Given the description of an element on the screen output the (x, y) to click on. 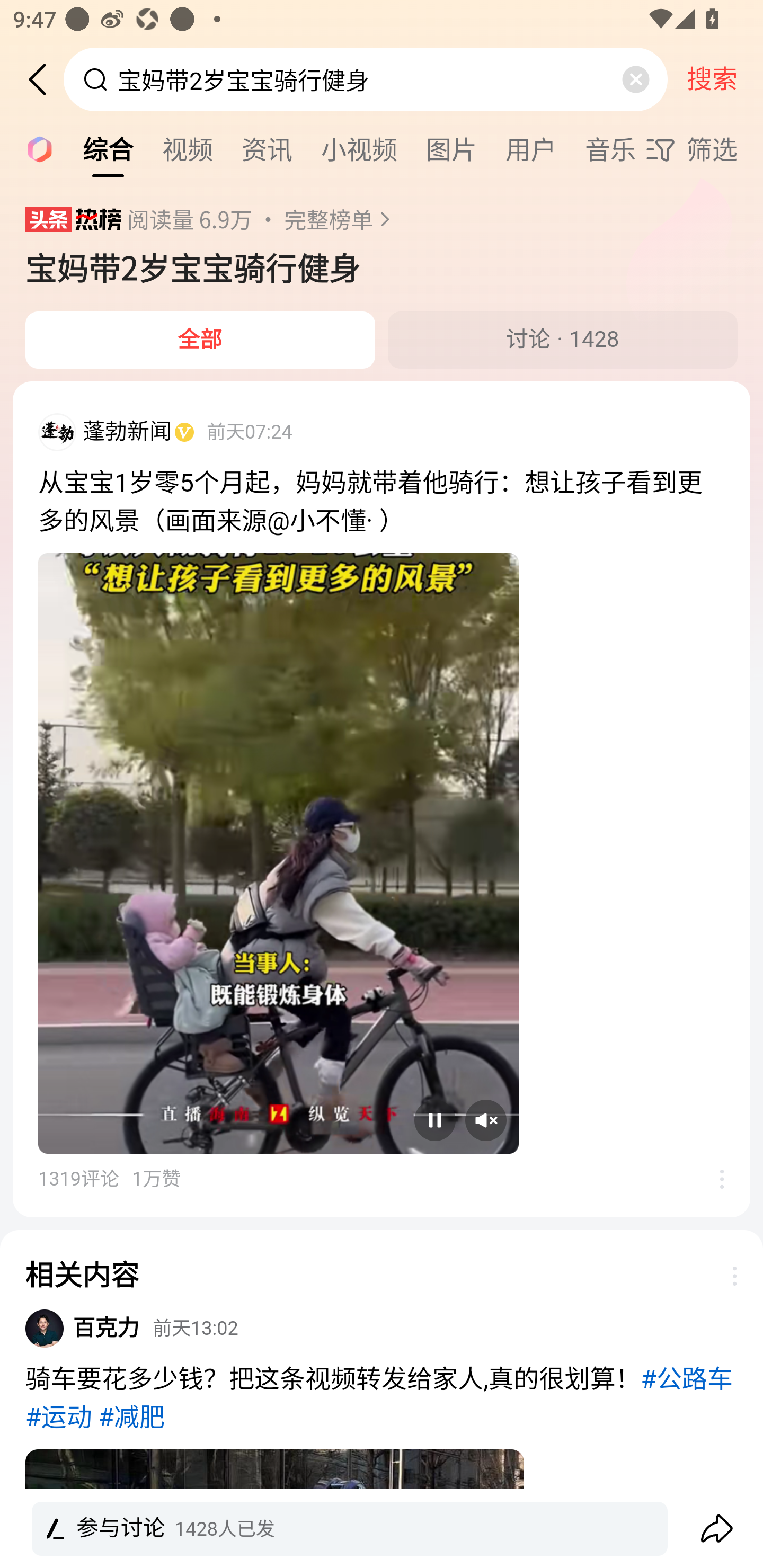
搜索框，宝妈带2岁宝宝骑行健身 (366, 79)
搜索 (711, 79)
返回 (44, 79)
清除 (635, 79)
视频 (187, 148)
资讯 (266, 148)
小视频 (359, 148)
图片 (451, 148)
用户 (530, 148)
音乐 (610, 148)
筛选 (703, 149)
AI问答 (34, 148)
阅读量 6.9万 · 完整榜单 (264, 219)
全部 (200, 340)
讨论·1428 (562, 340)
蓬勃新闻 前天07:24 蓬勃新闻 前天07:24 (381, 438)
从宝宝1岁零5个月起，妈妈就带着他骑行：想让孩子看到更多的风景（画面来源@小不懂· ） (381, 502)
取消静音 (485, 1120)
举报反馈 (711, 1178)
举报反馈 (724, 1275)
百克力 前天13:02 百克力 前天13:02 (381, 1334)
百克力 前天13:02 (155, 1327)
#公路车 (687, 1379)
#运动 (58, 1417)
#减肥 (130, 1417)
参与讨论1428人已发 (381, 1528)
